Given the description of an element on the screen output the (x, y) to click on. 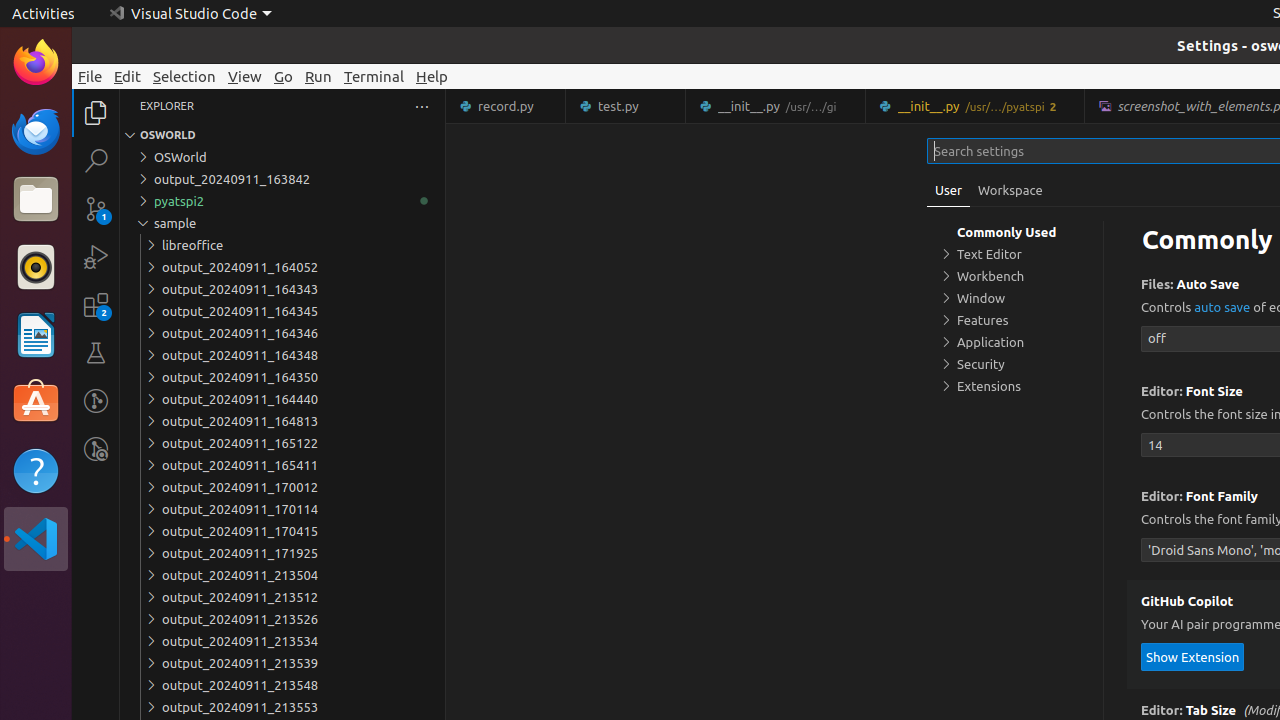
Extensions, group Element type: tree-item (1015, 386)
output_20240911_170415 Element type: tree-item (282, 531)
output_20240911_164345 Element type: tree-item (282, 311)
